Given the description of an element on the screen output the (x, y) to click on. 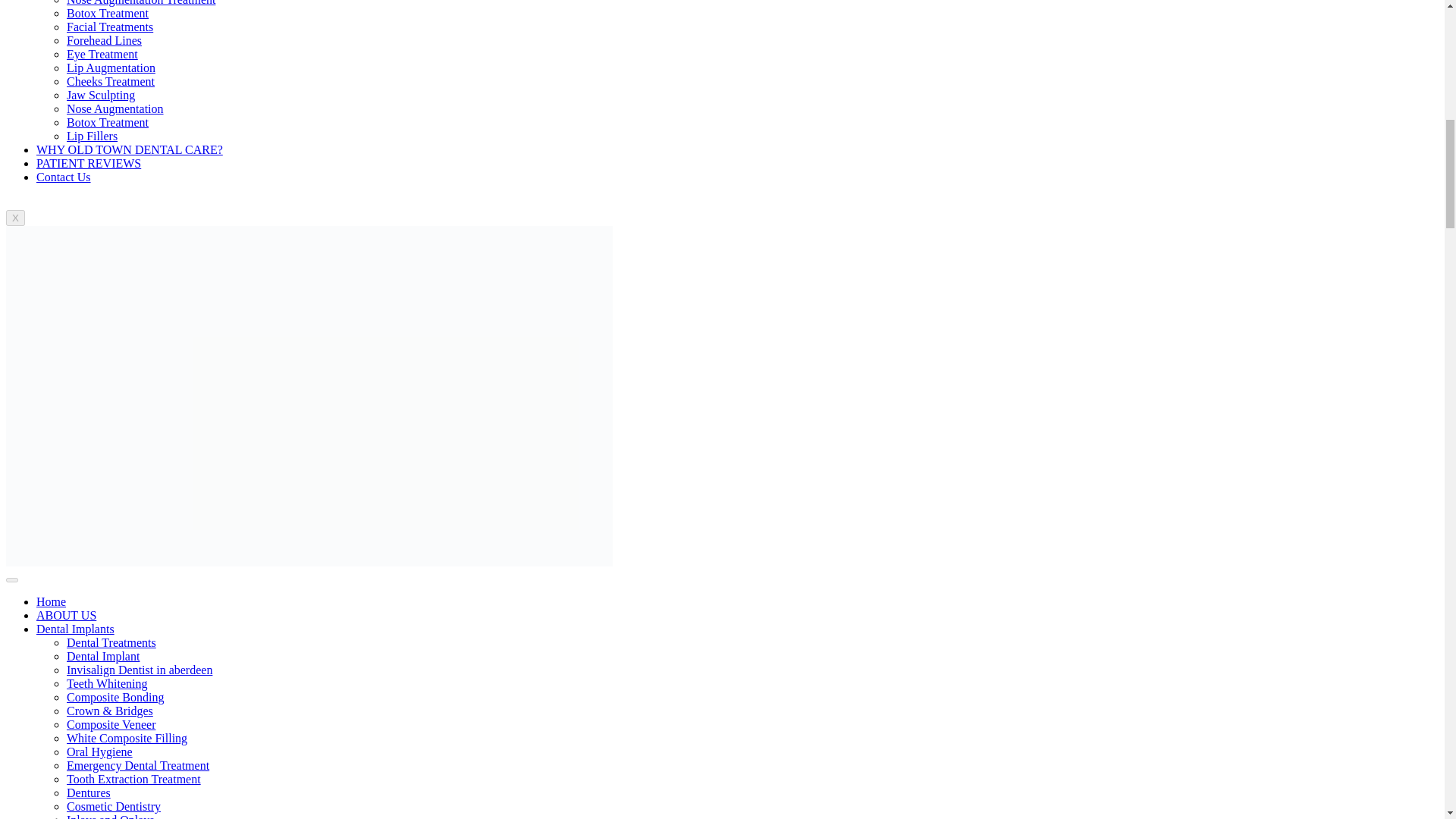
Nose Augmentation Treatment (140, 2)
Eye Treatment (102, 53)
Facial Treatments (109, 26)
Botox Treatment (107, 12)
Forehead Lines (103, 40)
